Given the description of an element on the screen output the (x, y) to click on. 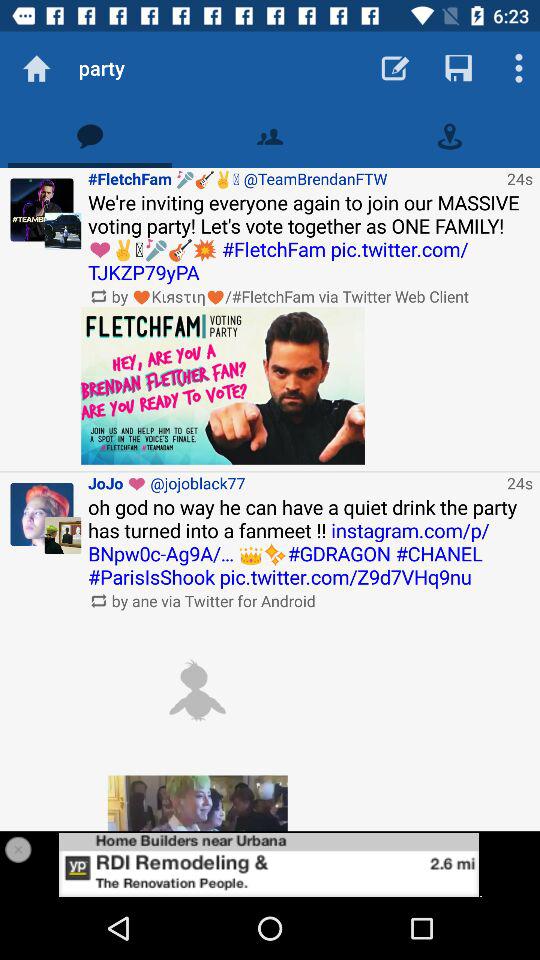
go to contacts (270, 136)
